Given the description of an element on the screen output the (x, y) to click on. 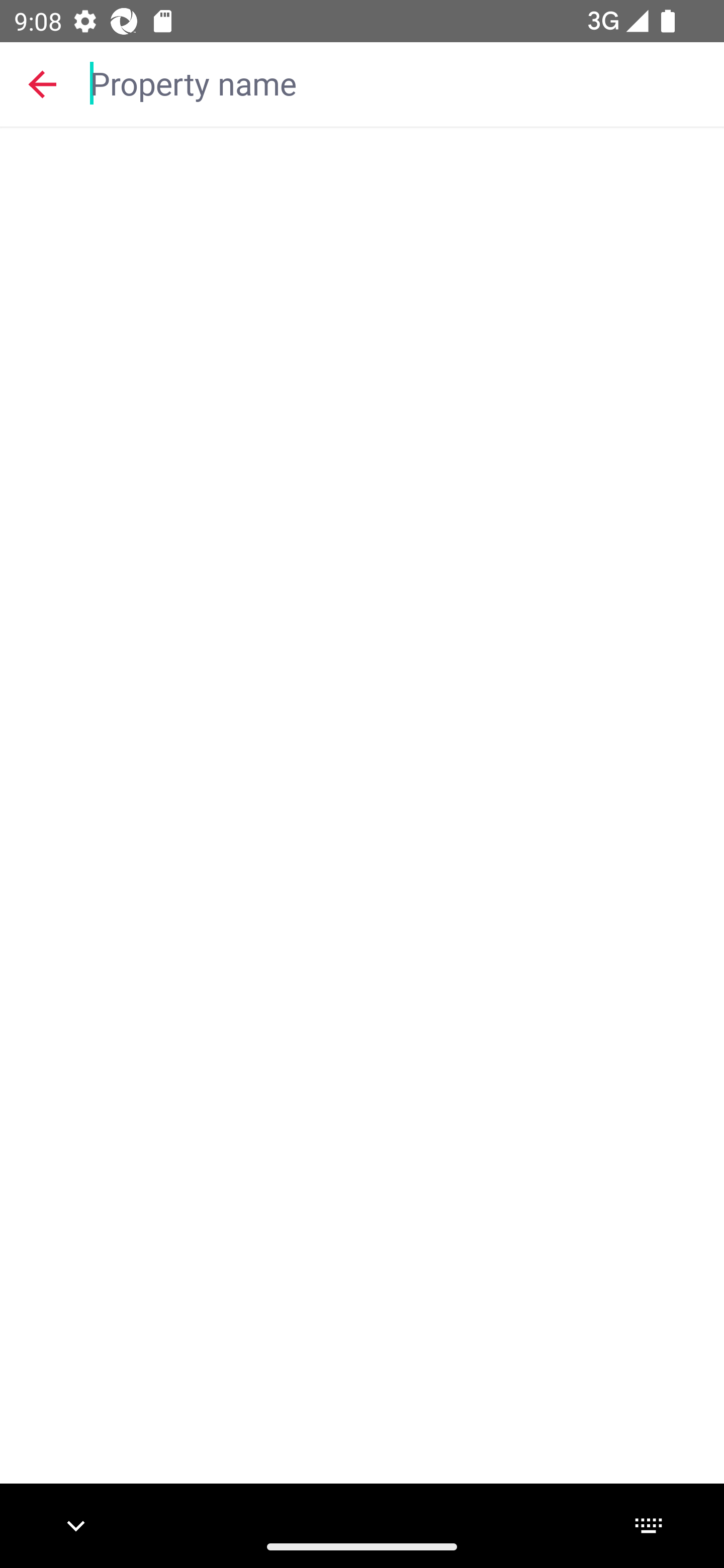
Property name,  (397, 82)
Back to search screen (41, 83)
